Given the description of an element on the screen output the (x, y) to click on. 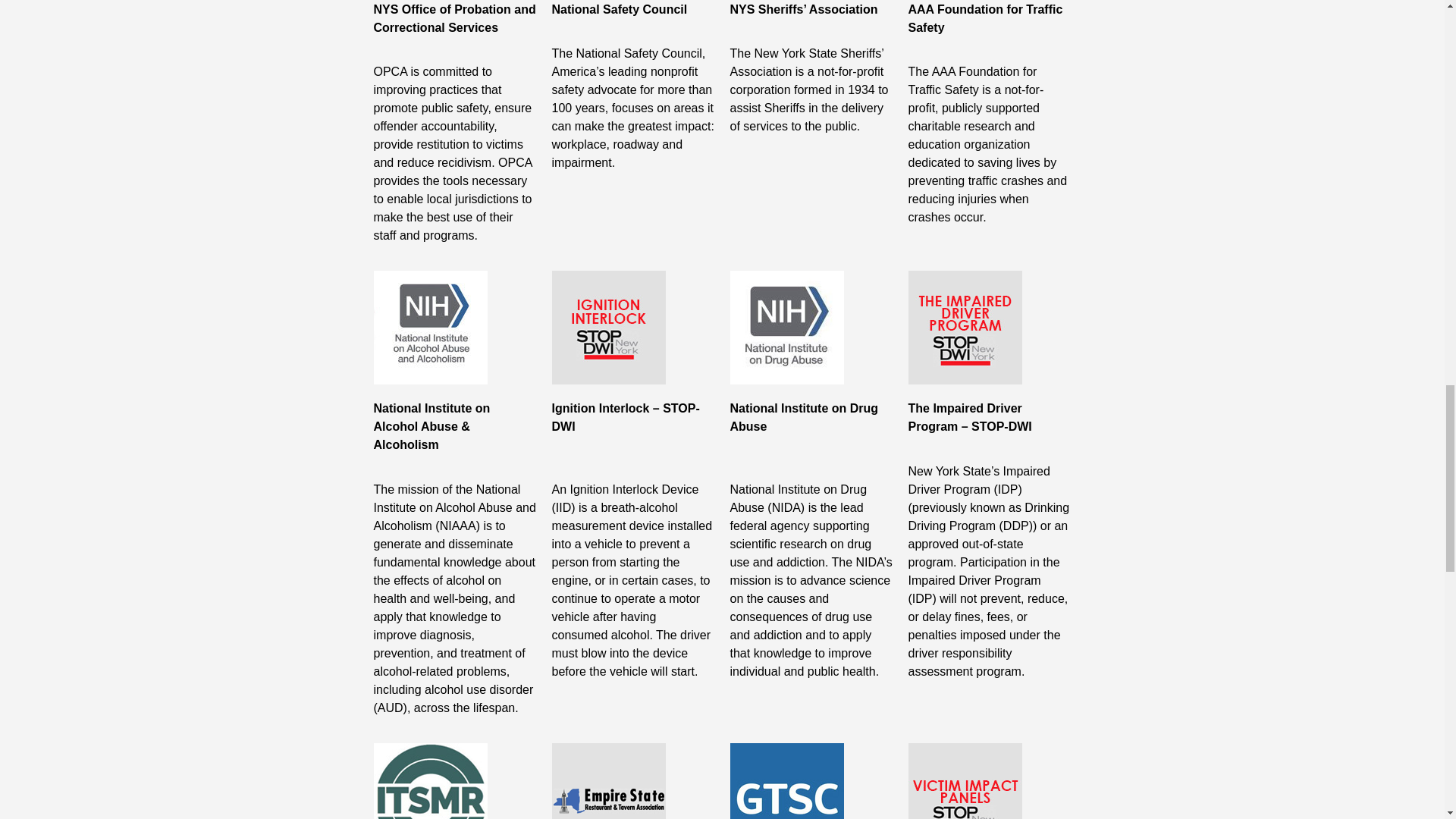
esrta-logo (608, 780)
idp-stopdwi-logo (965, 327)
nida-logo (786, 327)
ii-stopdwi-logo (608, 327)
vip-stopdwi-logo (965, 780)
itsmr-logo (429, 780)
